Given the description of an element on the screen output the (x, y) to click on. 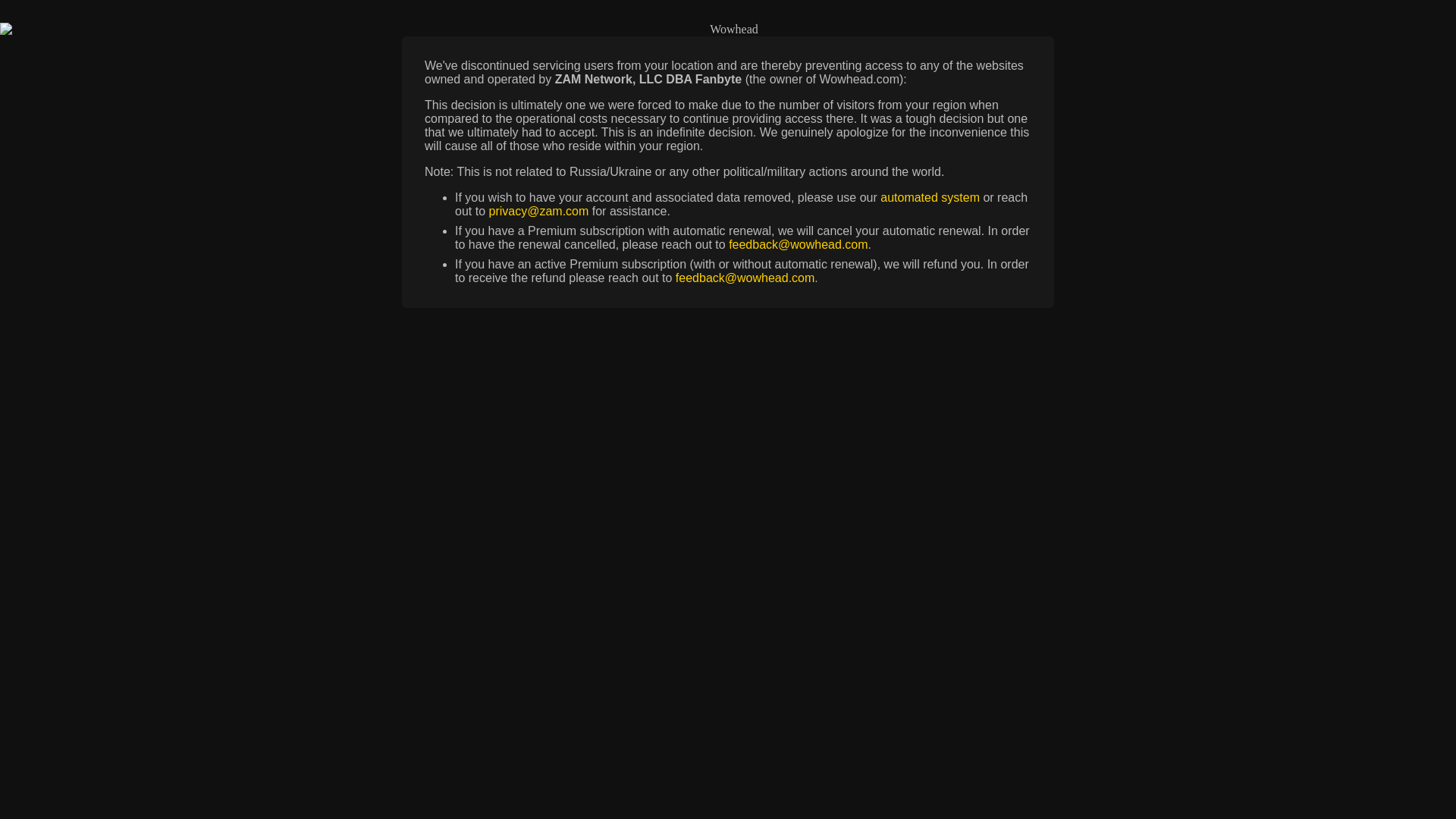
automated system (929, 196)
